Given the description of an element on the screen output the (x, y) to click on. 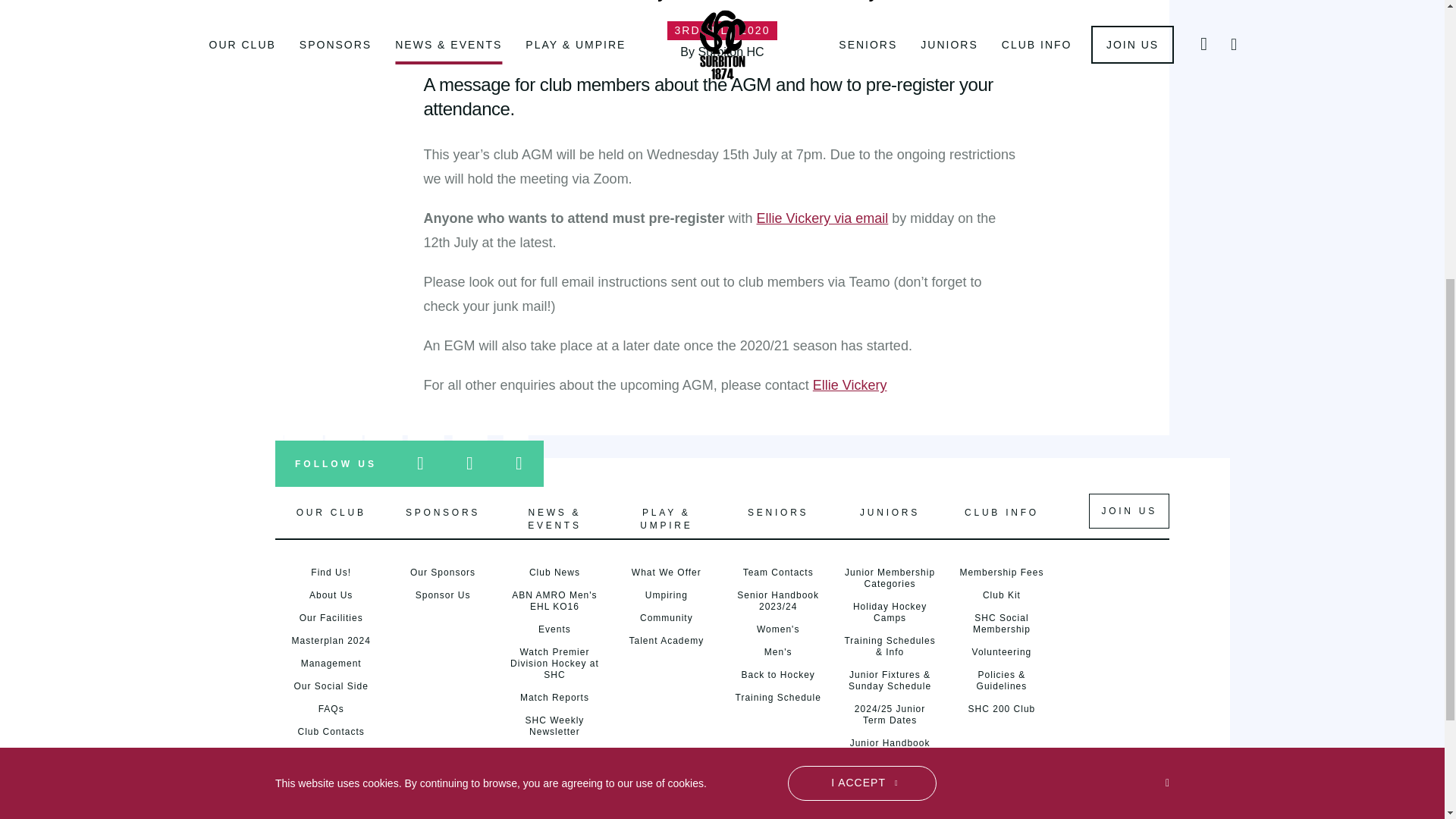
I ACCEPT (861, 285)
